Given the description of an element on the screen output the (x, y) to click on. 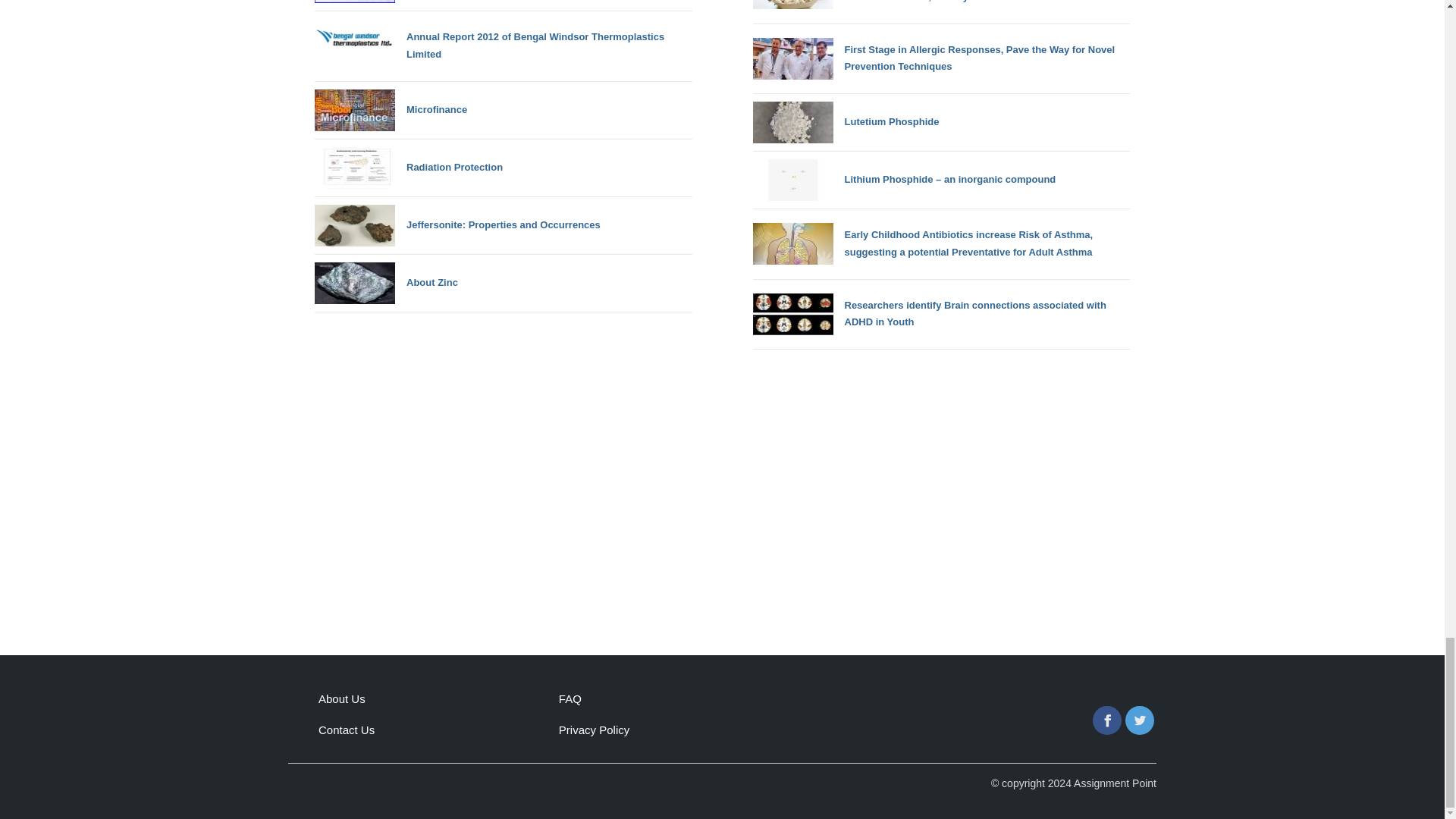
Lutetium Phosphide (845, 122)
About Zinc (386, 282)
Microfinance (390, 110)
Annual Report 2012 of Bengal Windsor Thermoplastics Limited (503, 45)
Jeffersonite: Properties and Occurrences (456, 225)
